Given the description of an element on the screen output the (x, y) to click on. 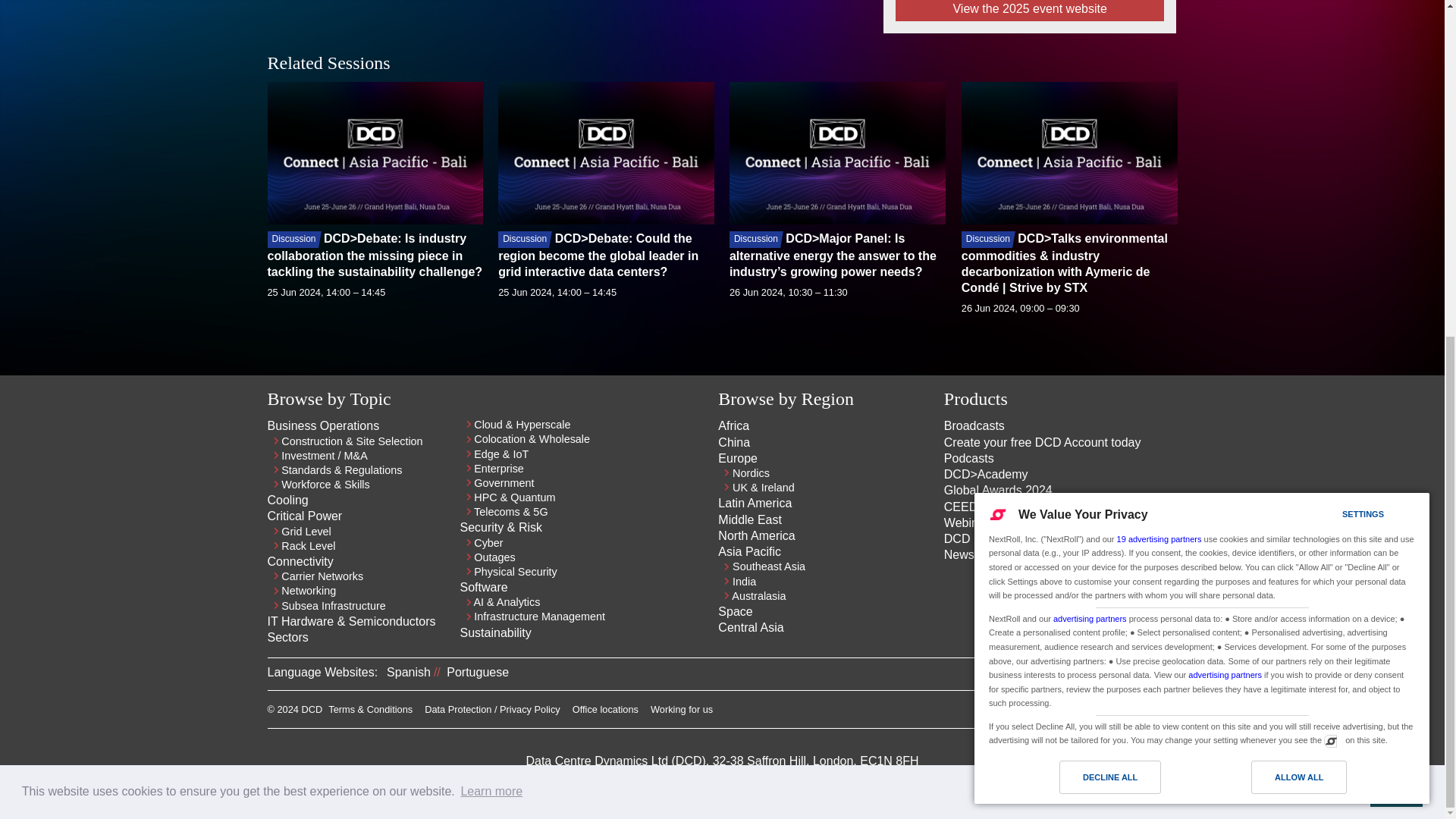
Twitter (1140, 712)
Got it! (1396, 225)
Facebook (1167, 712)
Learn more (491, 225)
Linkedin (1113, 712)
